Given the description of an element on the screen output the (x, y) to click on. 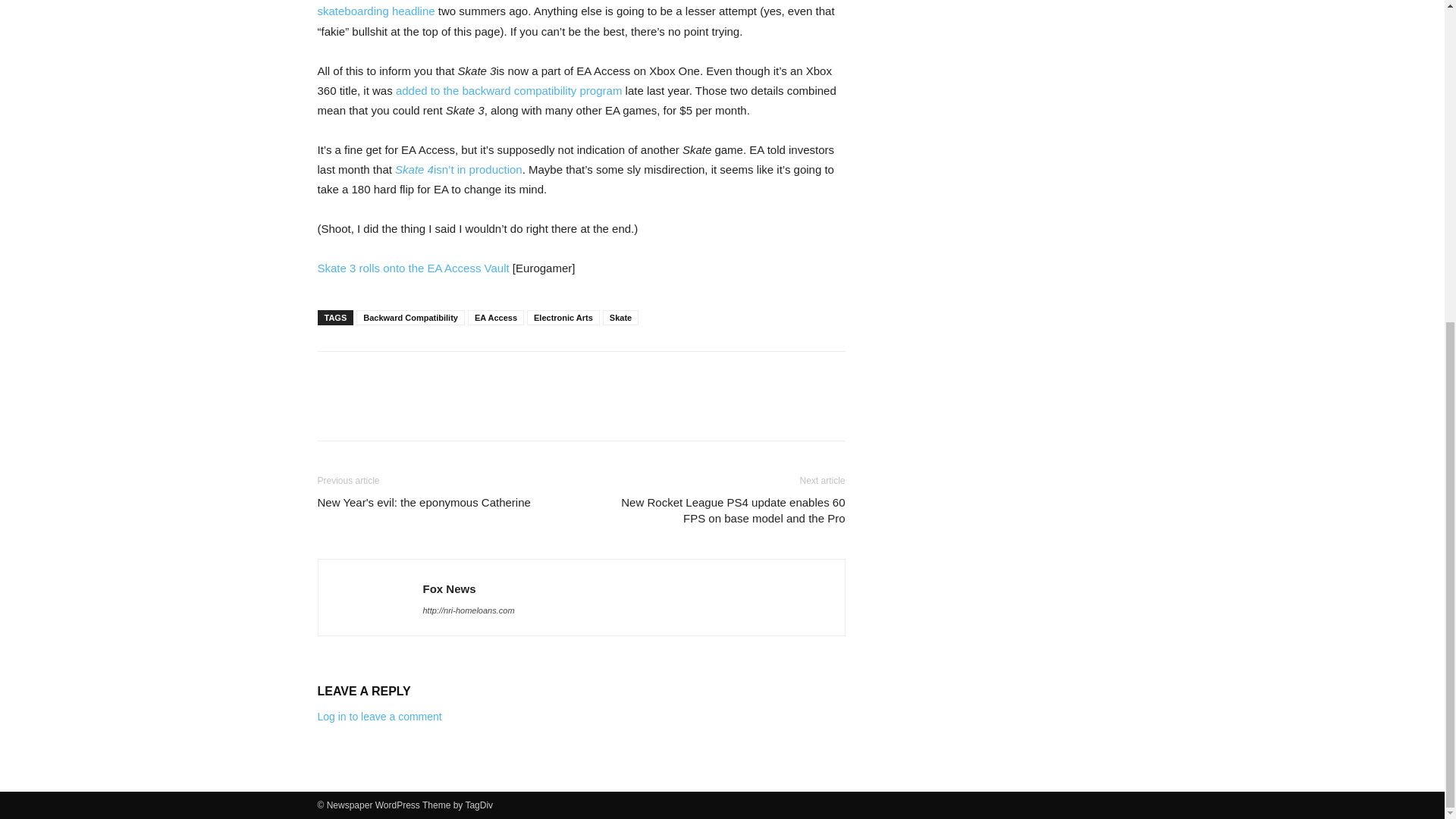
Skate 3 rolls onto the EA Access Vault (412, 267)
Electronic Arts (563, 317)
bottomFacebookLike (430, 375)
Backward Compatibility (410, 317)
New Year's evil: the eponymous Catherine (423, 502)
added to the backward compatibility program (509, 90)
Fox News (449, 588)
Skate (620, 317)
the perfect skateboarding headline (547, 8)
